Given the description of an element on the screen output the (x, y) to click on. 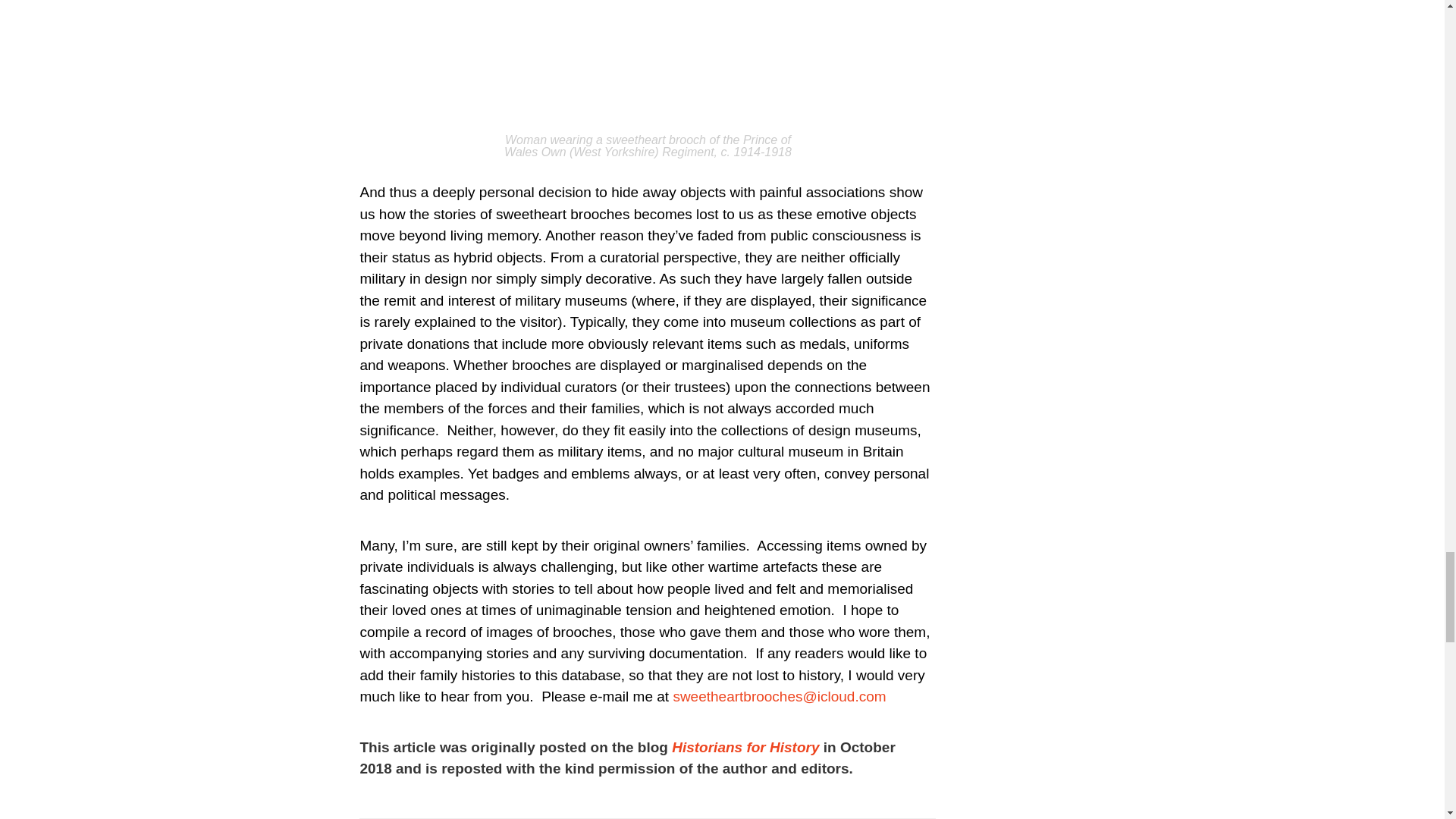
Historians for History (744, 747)
